Given the description of an element on the screen output the (x, y) to click on. 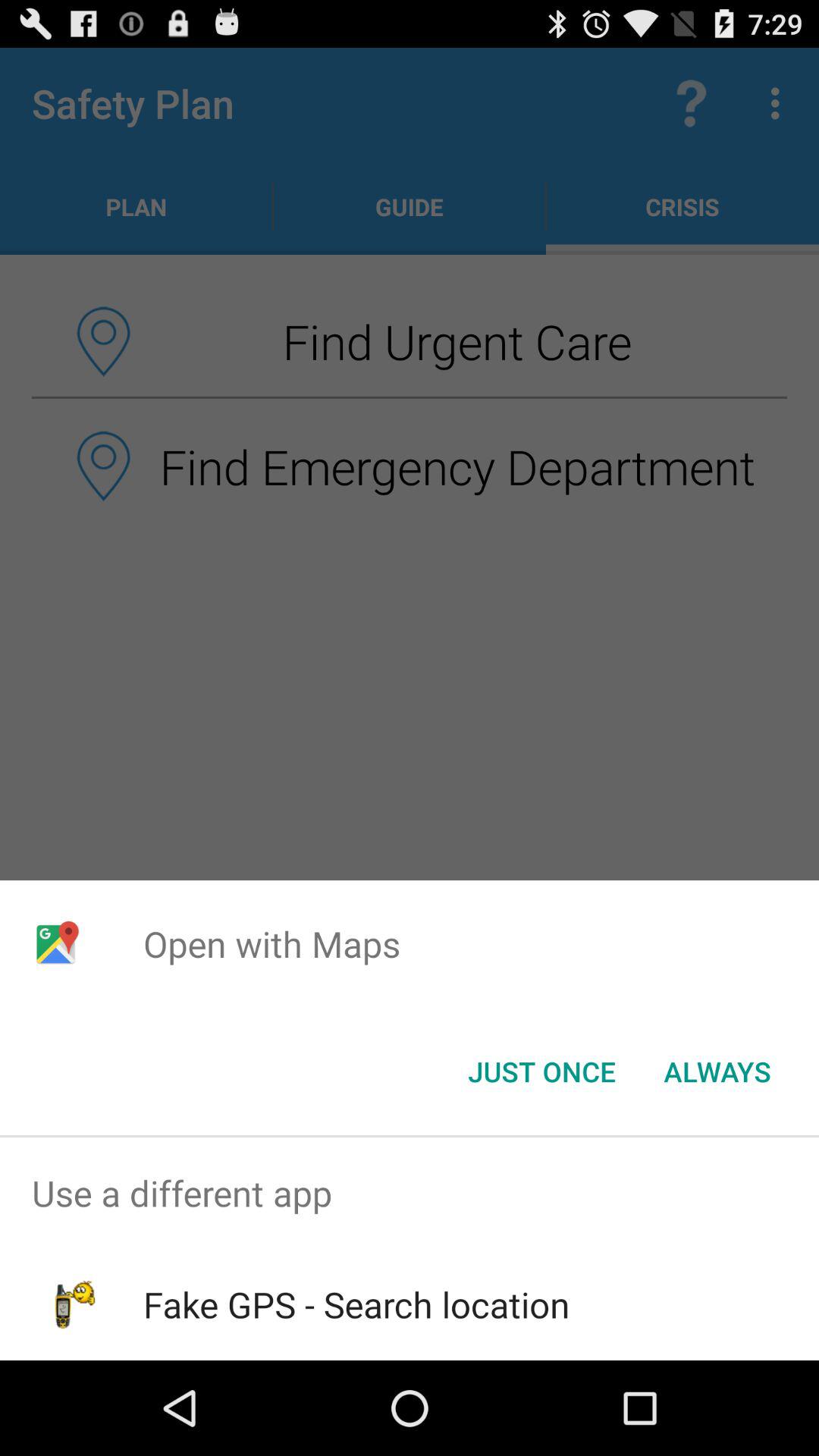
scroll to the use a different icon (409, 1192)
